Given the description of an element on the screen output the (x, y) to click on. 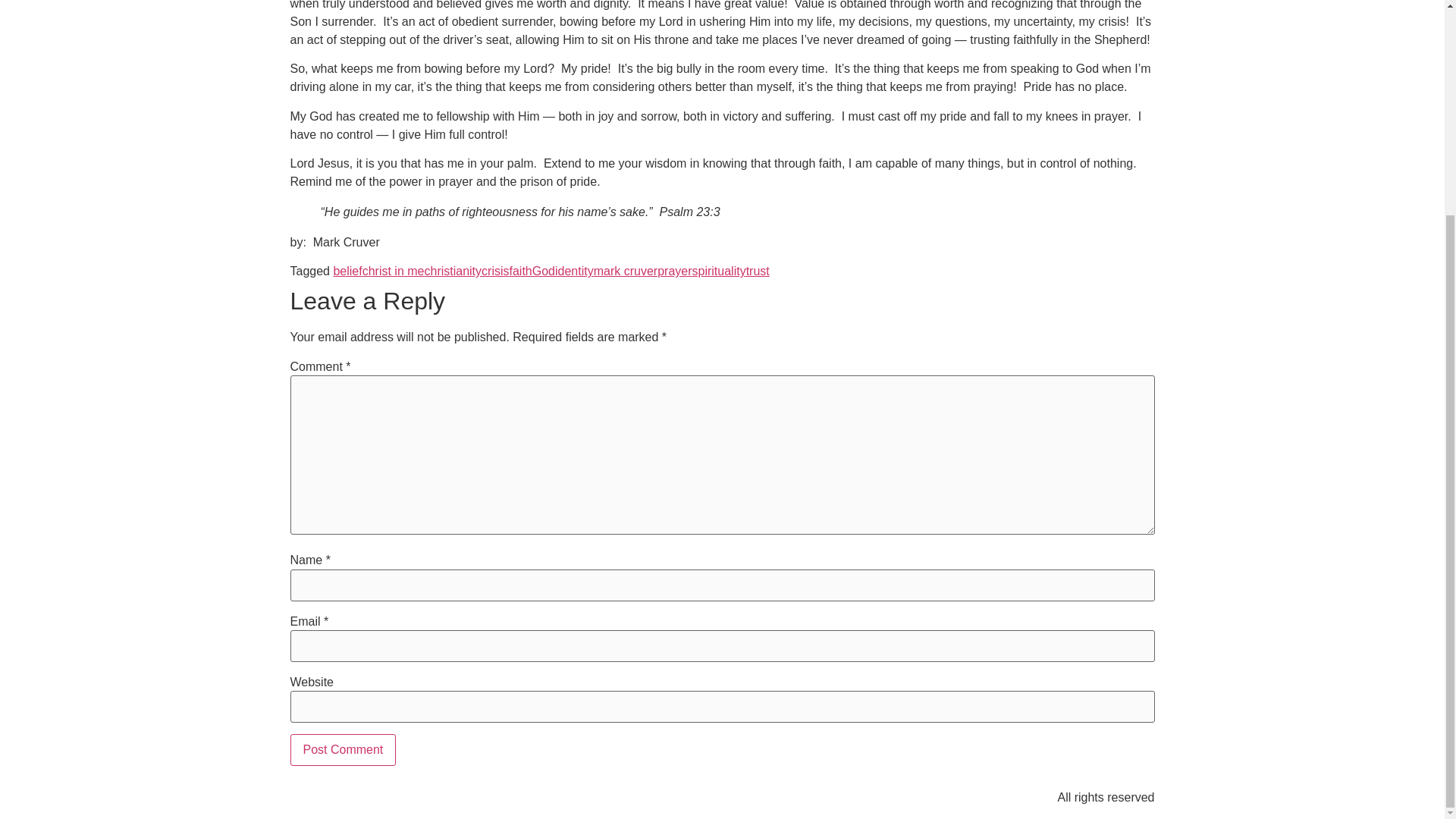
crisis (494, 270)
belief (347, 270)
christianity (452, 270)
spirituality (719, 270)
prayer (674, 270)
trust (757, 270)
Post Comment (342, 749)
faith (520, 270)
Post Comment (342, 749)
God (543, 270)
